Given the description of an element on the screen output the (x, y) to click on. 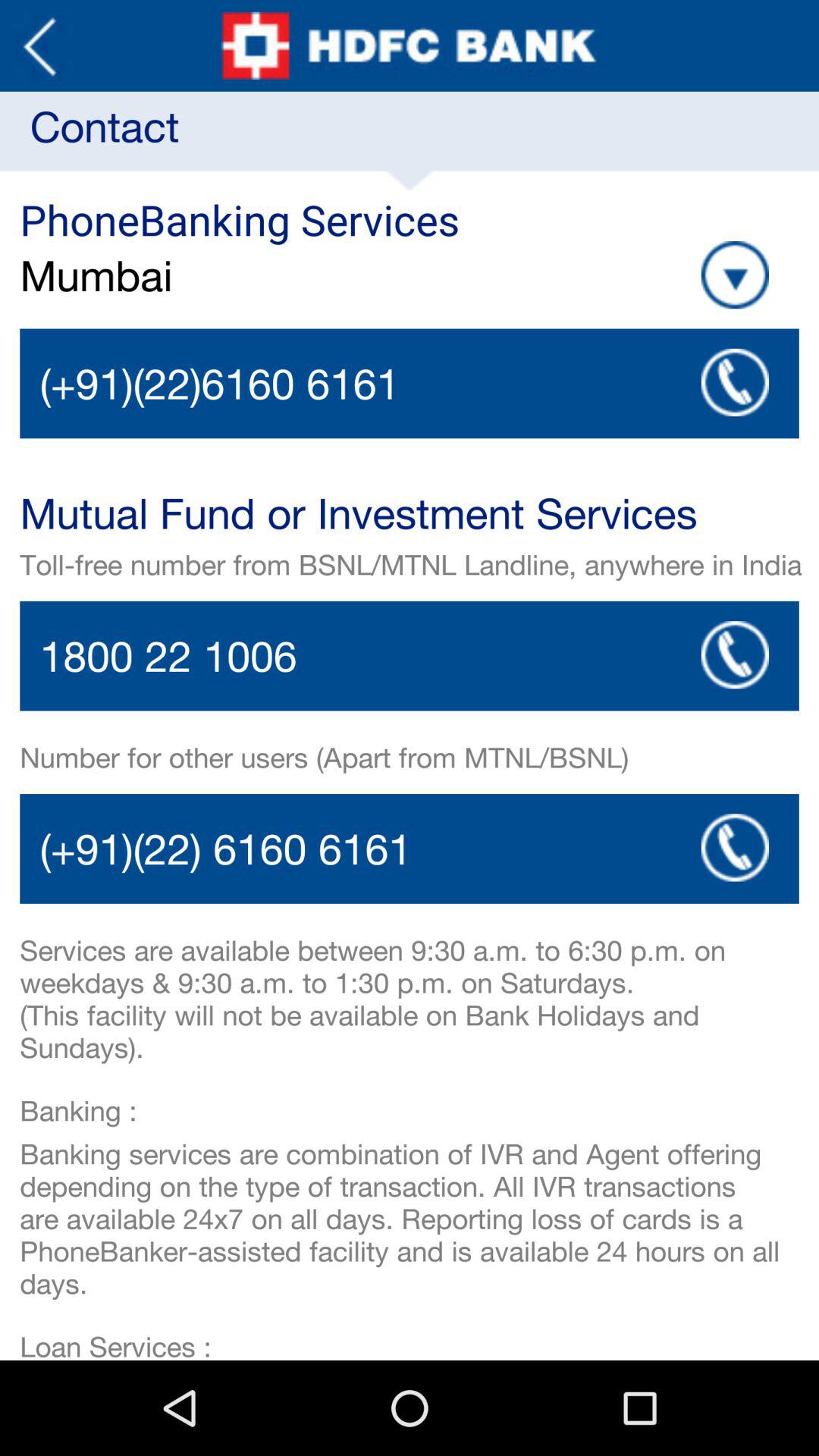
go to previous (39, 45)
